Given the description of an element on the screen output the (x, y) to click on. 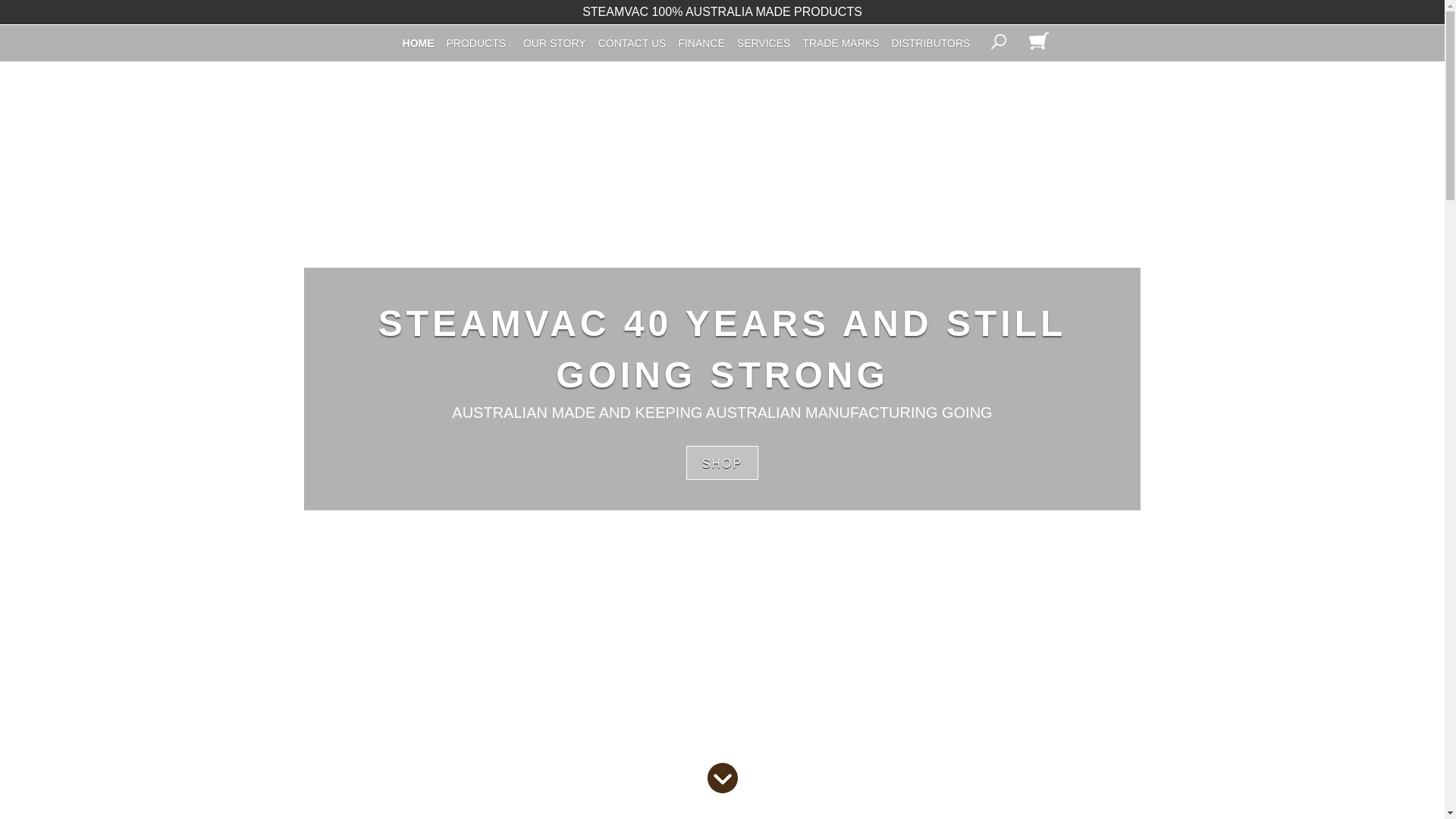
HOME (418, 43)
FINANCE (700, 43)
OUR STORY (554, 43)
DISTRIBUTORS (930, 43)
CONTACT US (632, 43)
SERVICES (763, 43)
SHOP (721, 462)
PRODUCTS (478, 43)
TRADE MARKS (840, 43)
